Given the description of an element on the screen output the (x, y) to click on. 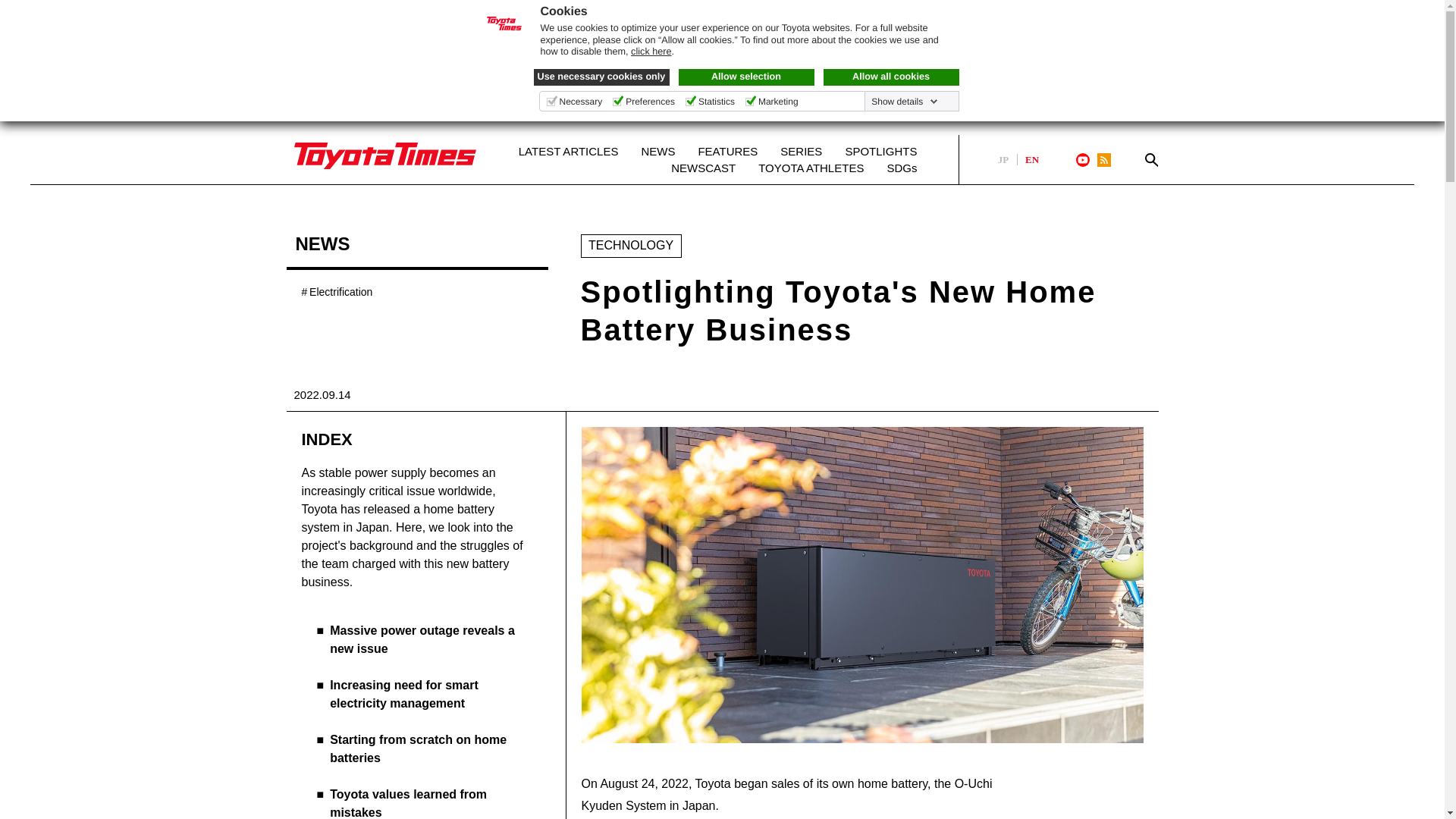
click here (650, 51)
Allow all cookies (891, 76)
Show details (903, 101)
Allow selection (745, 76)
Use necessary cookies only (601, 76)
